Given the description of an element on the screen output the (x, y) to click on. 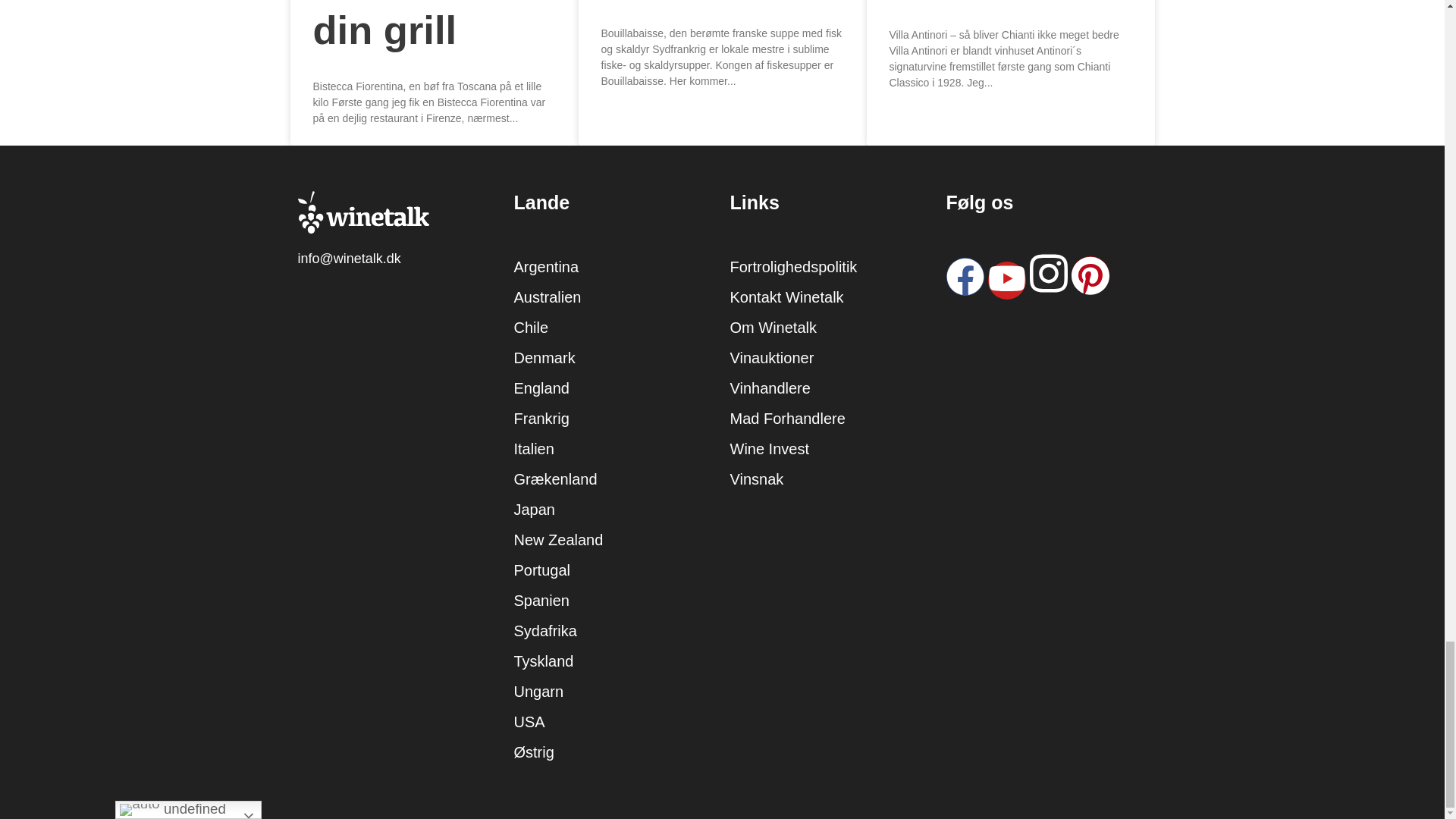
Denmark (544, 357)
Argentina (546, 266)
Australien (546, 297)
Chile (530, 327)
